Given the description of an element on the screen output the (x, y) to click on. 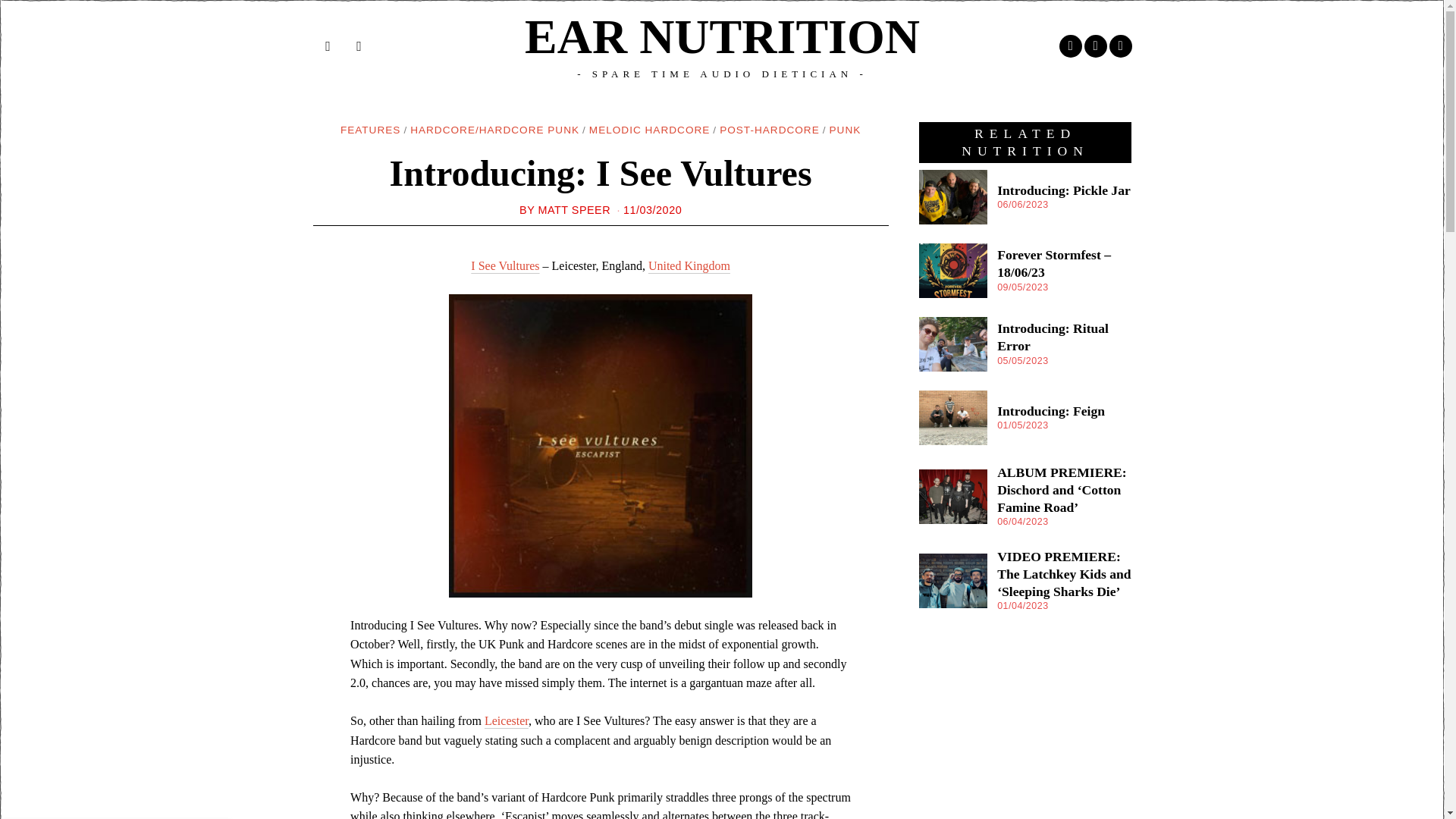
Introducing: Pickle Jar (1064, 190)
POST-HARDCORE (769, 130)
Leicester (506, 720)
FEATURES (370, 130)
PUNK (845, 130)
Introducing: Ritual Error (1052, 336)
Introducing: Feign (1051, 410)
United Kingdom (688, 265)
MELODIC HARDCORE (649, 130)
Instagram (1095, 46)
I See Vultures (504, 265)
MATT SPEER (573, 209)
EAR NUTRITION (722, 36)
Spotify (1119, 46)
Facebook (1069, 46)
